Given the description of an element on the screen output the (x, y) to click on. 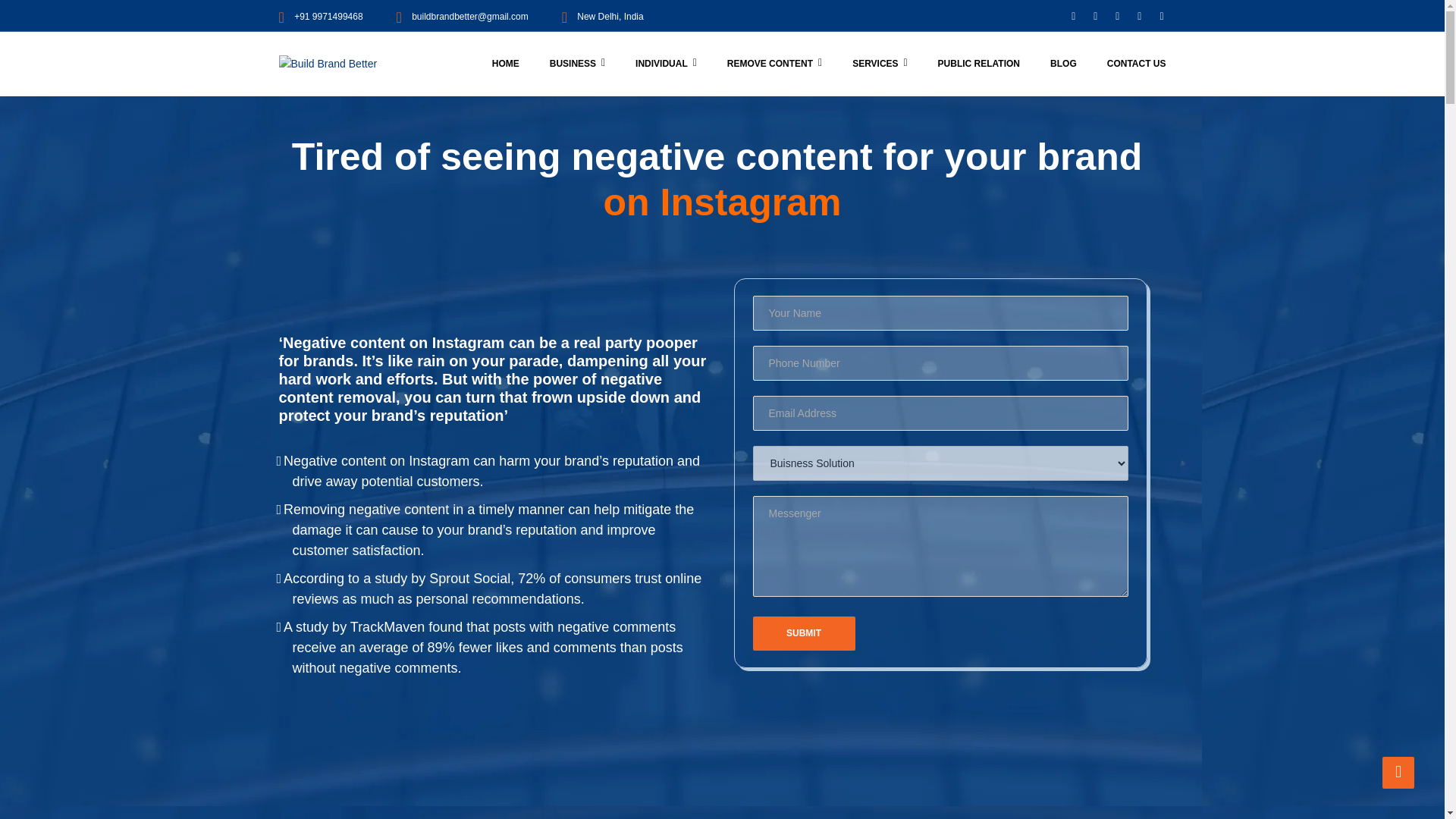
HOME (505, 63)
Submit (803, 633)
BUSINESS (577, 63)
CONTACT US (1129, 63)
REMOVE CONTENT (774, 63)
SERVICES (879, 63)
INDIVIDUAL (665, 63)
PUBLIC RELATION (979, 63)
